Given the description of an element on the screen output the (x, y) to click on. 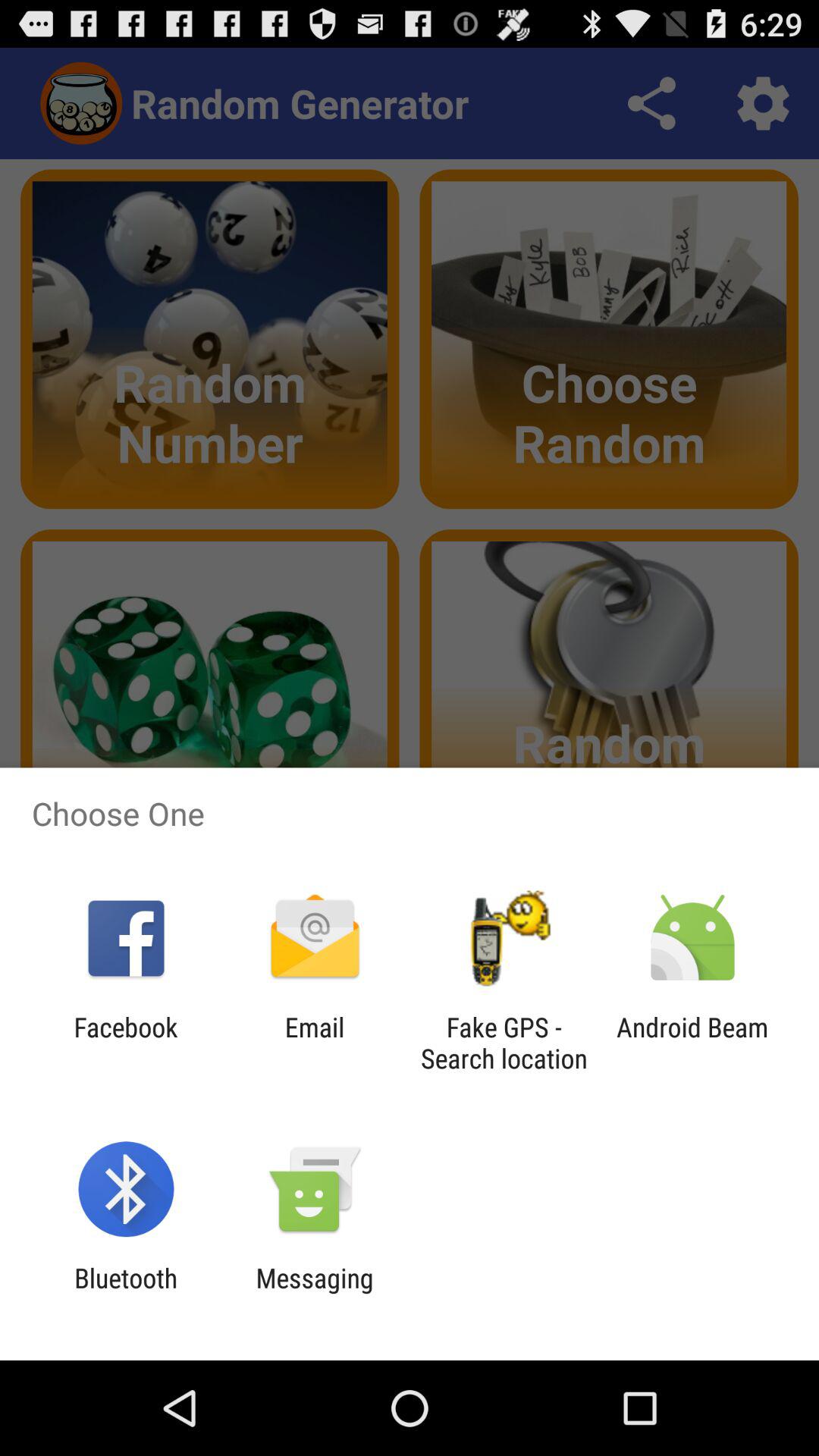
tap the item next to messaging app (125, 1293)
